Given the description of an element on the screen output the (x, y) to click on. 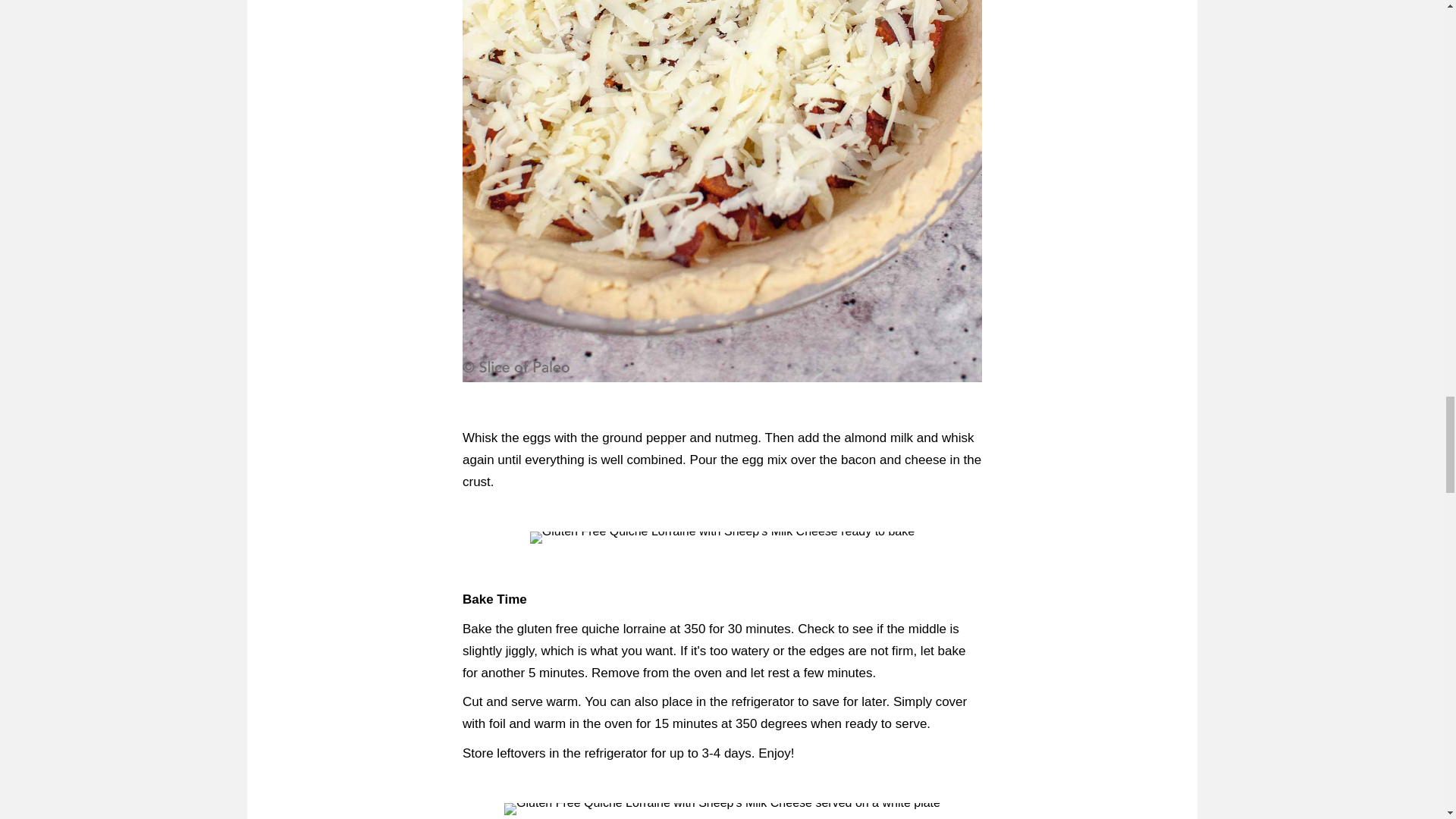
slice-of-paleo-mocktail-3 (721, 537)
slice-of-paleo-mocktail-5 (721, 808)
